Given the description of an element on the screen output the (x, y) to click on. 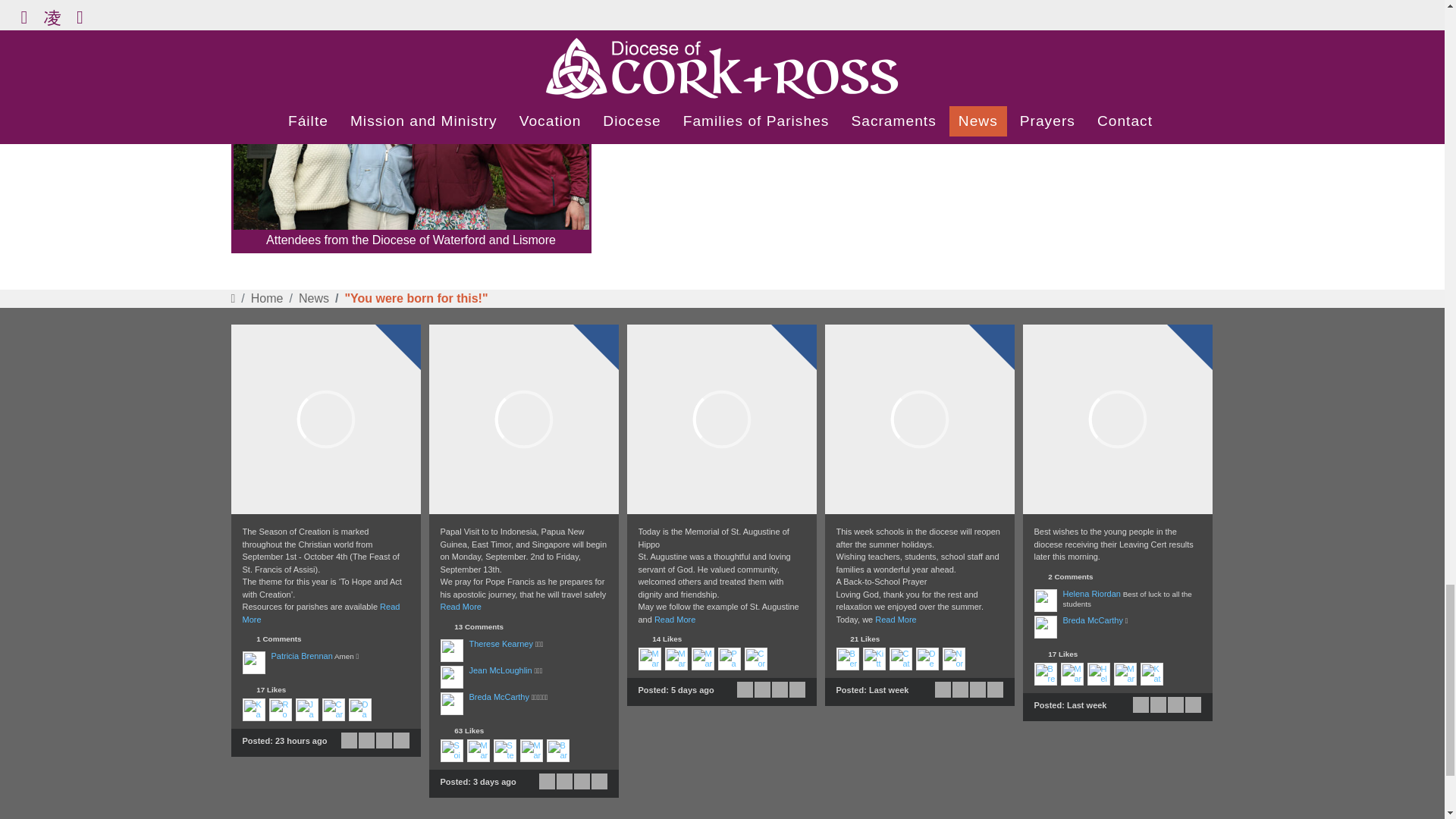
Kay O'Neill Murray (253, 709)
Rose O Connell (279, 709)
